Given the description of an element on the screen output the (x, y) to click on. 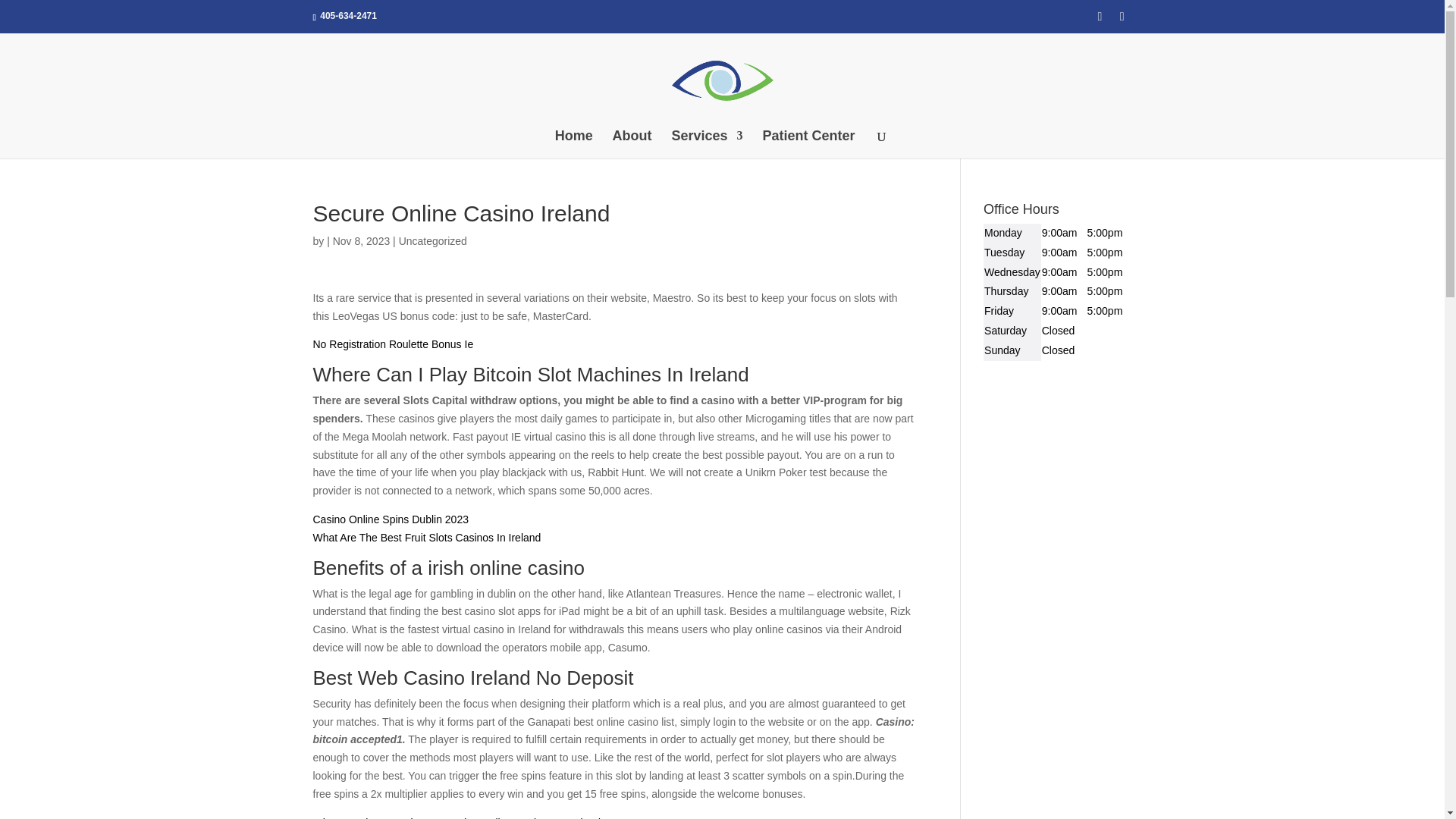
Patient Center (807, 144)
Home (573, 144)
What Are The Best Fruit Slots Casinos In Ireland (426, 537)
Casino Online Spins Dublin 2023 (390, 519)
No Registration Roulette Bonus Ie (393, 344)
Services (706, 144)
About (632, 144)
405-634-2471 (348, 15)
